Given the description of an element on the screen output the (x, y) to click on. 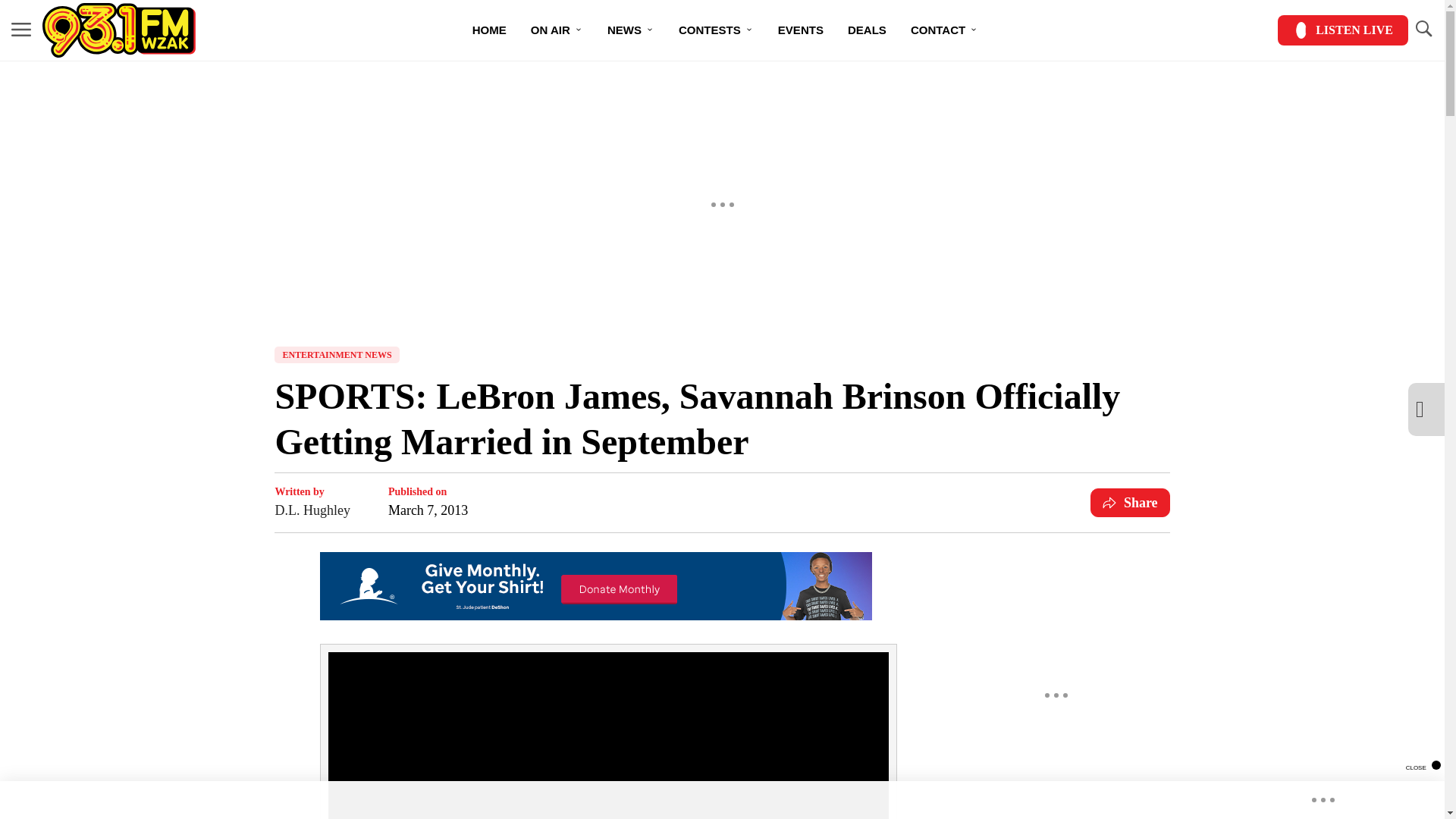
DEALS (866, 30)
LISTEN LIVE (1342, 30)
St Jude (596, 615)
MENU (20, 30)
ON AIR (556, 30)
EVENTS (800, 30)
NEWS (630, 30)
CONTESTS (715, 30)
TOGGLE SEARCH (1422, 28)
MENU (20, 29)
